Given the description of an element on the screen output the (x, y) to click on. 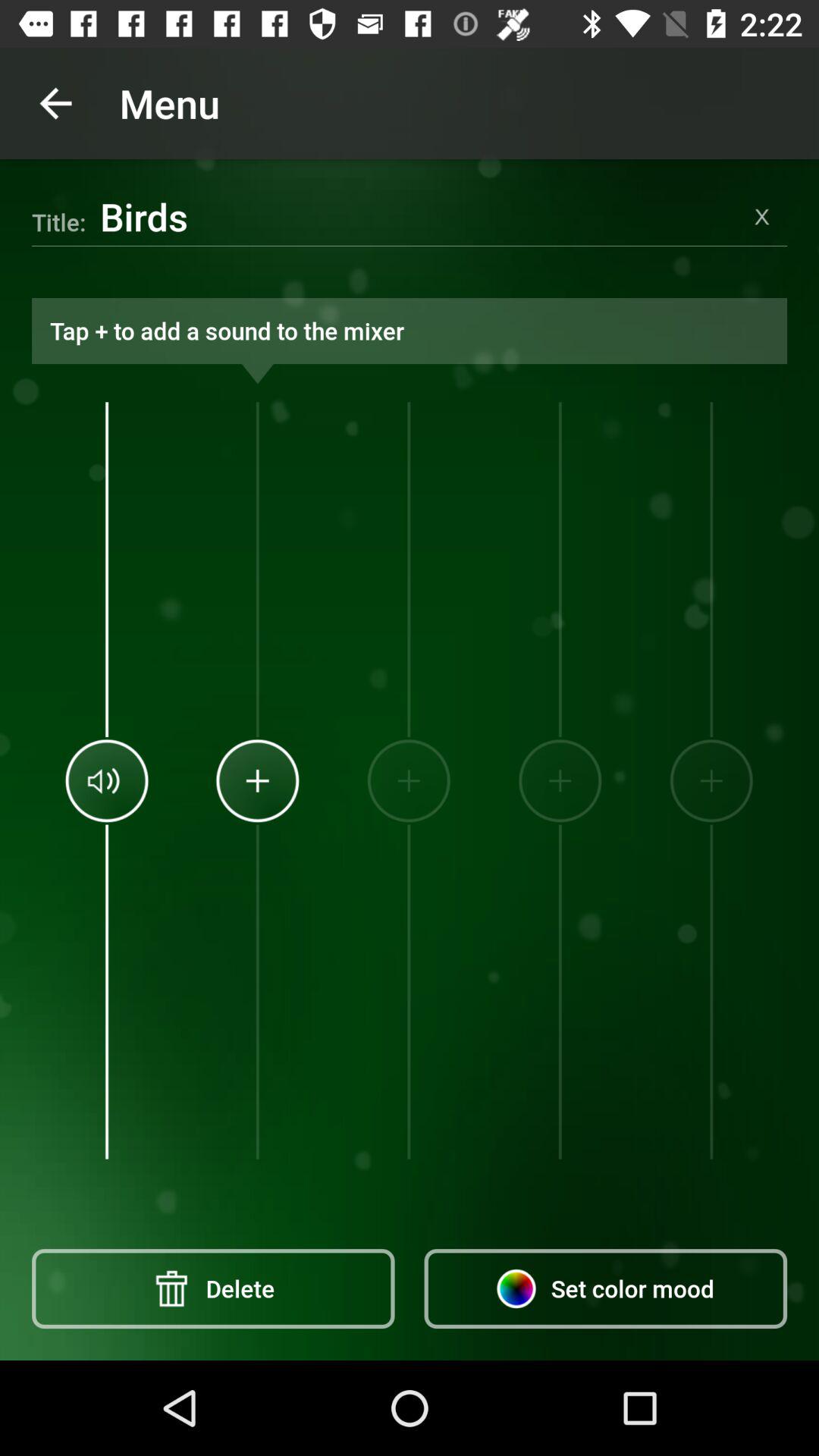
choose the item below the tap to add item (408, 780)
